Given the description of an element on the screen output the (x, y) to click on. 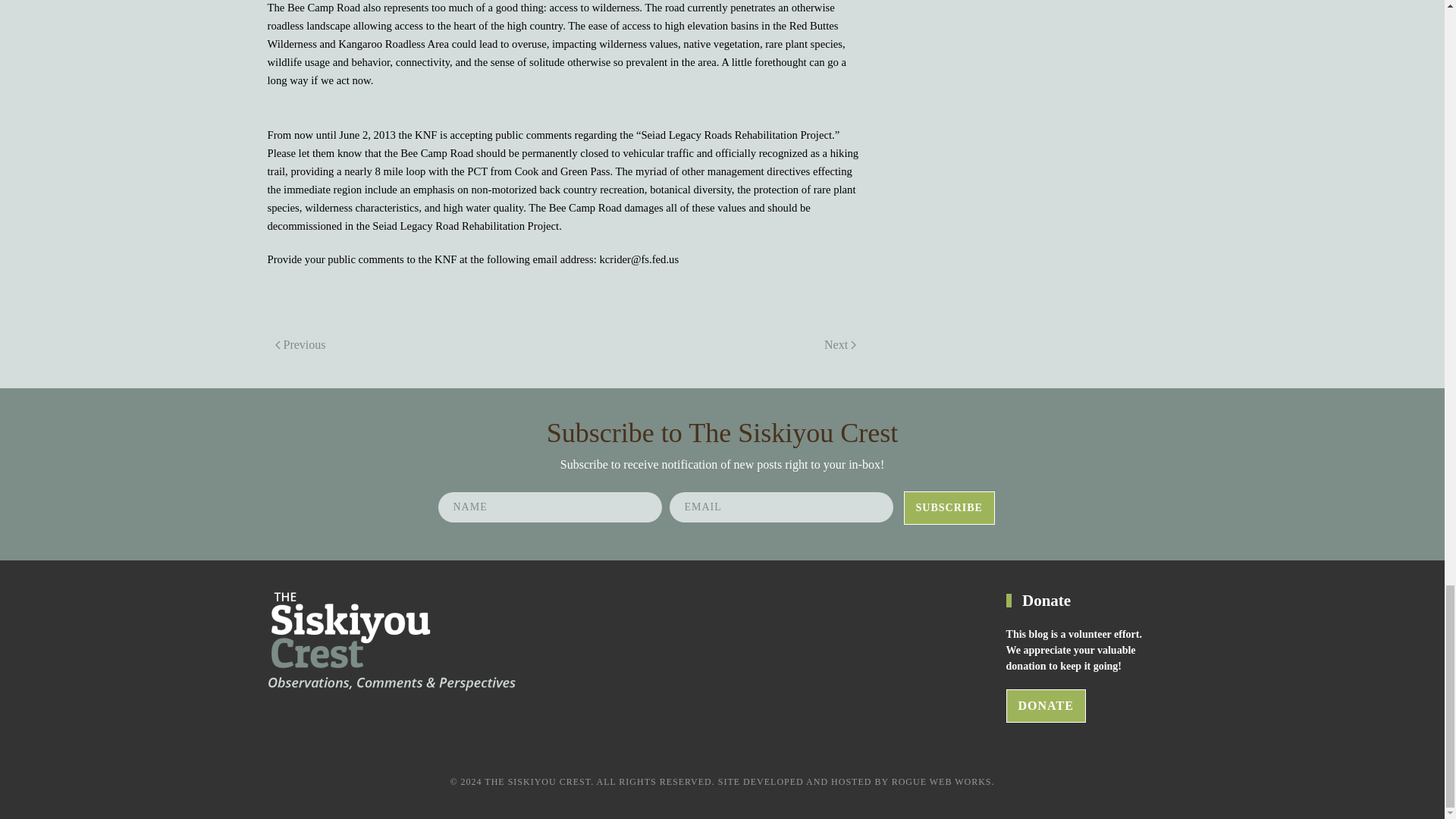
SUBSCRIBE (949, 507)
ROGUE WEB WORKS (941, 781)
SUBSCRIBE (949, 507)
Previous (299, 344)
Next (839, 344)
DONATE (1046, 705)
